Given the description of an element on the screen output the (x, y) to click on. 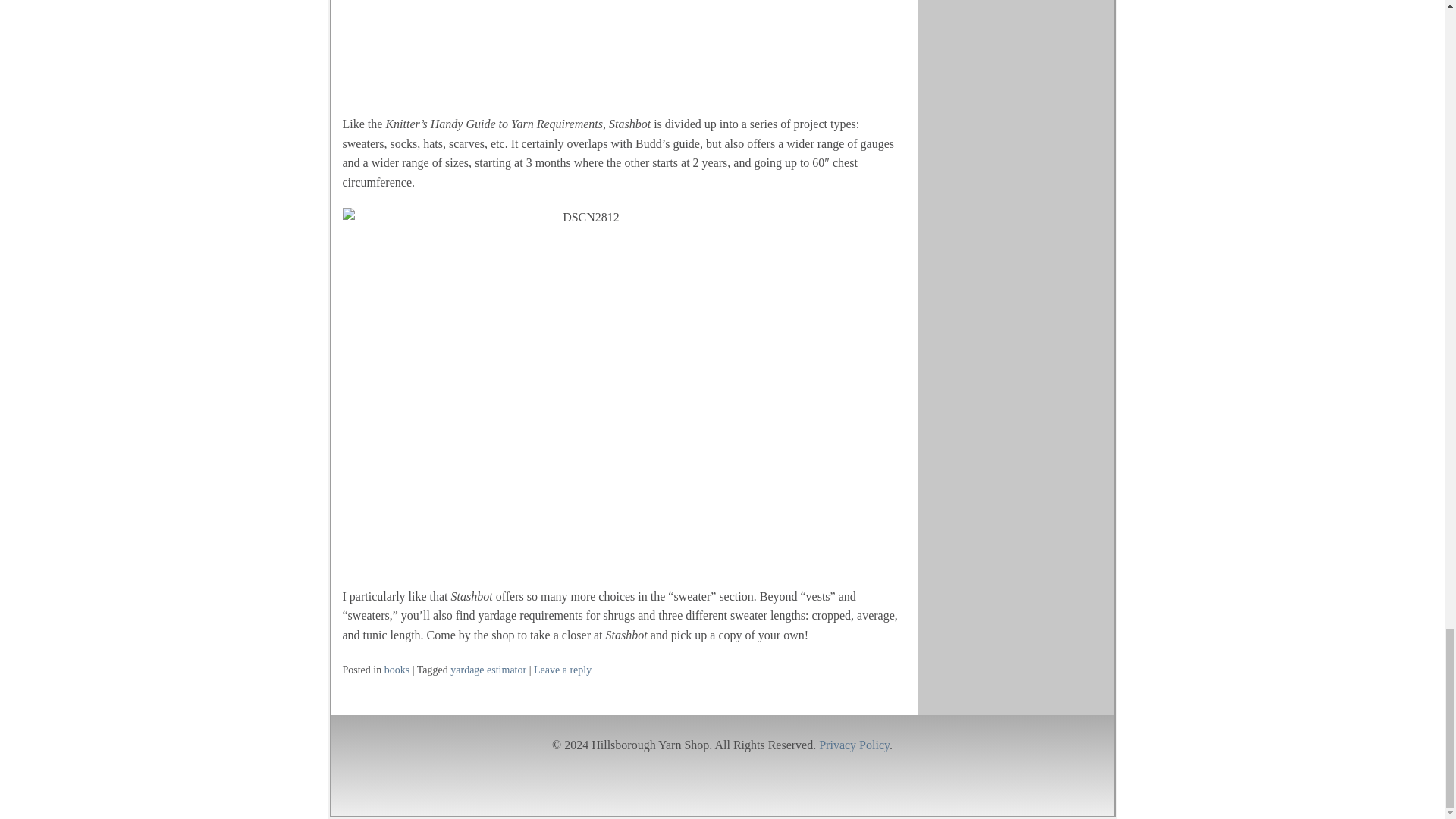
books (396, 669)
Leave a reply (562, 669)
yardage estimator (487, 669)
